Given the description of an element on the screen output the (x, y) to click on. 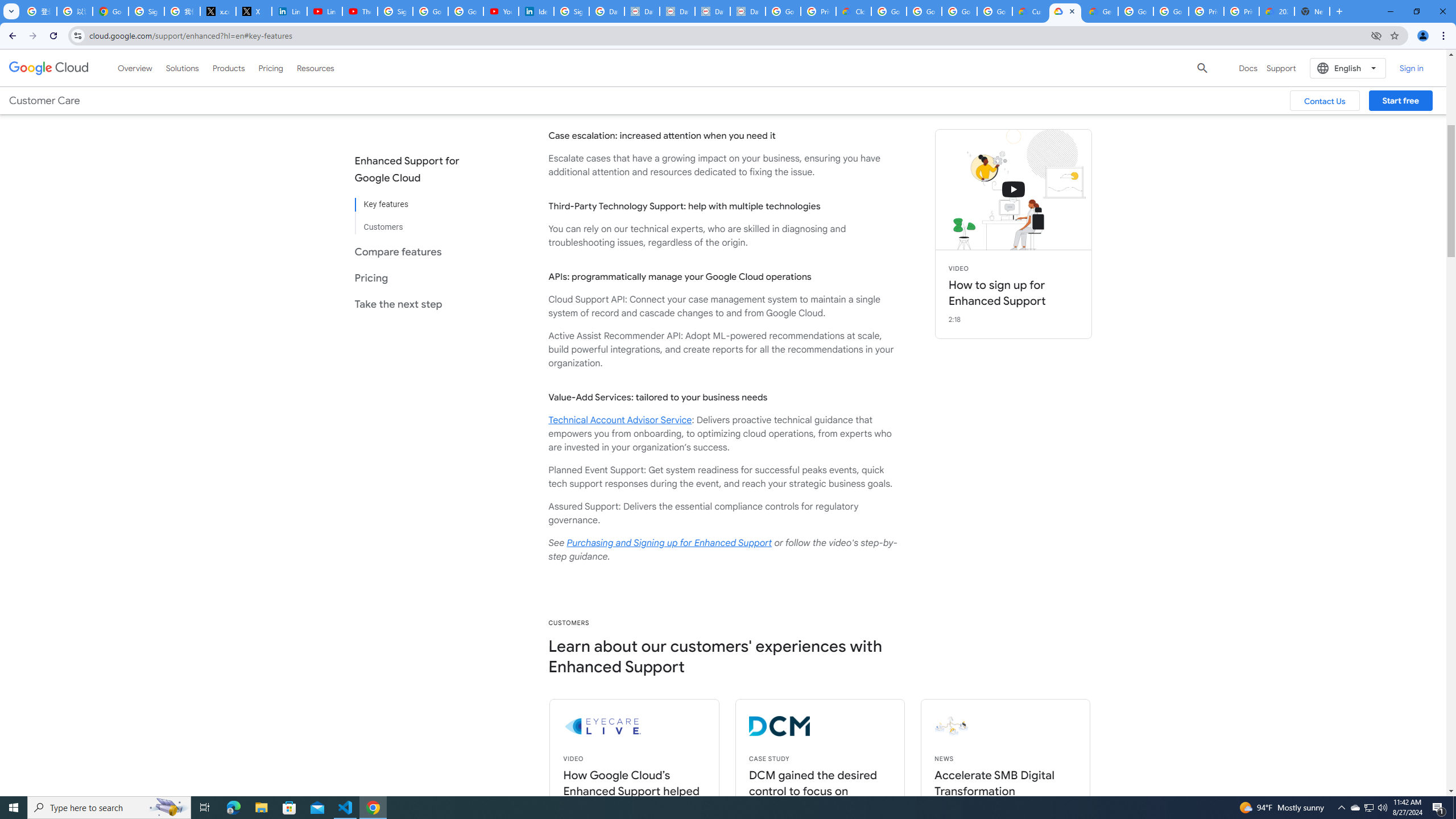
Start free (1400, 100)
Sign in - Google Accounts (571, 11)
Purchasing and Signing up for Enhanced Support (668, 542)
Data Privacy Framework (677, 11)
Google Cloud Platform (1135, 11)
Google Cloud (48, 67)
Key features (416, 204)
